Given the description of an element on the screen output the (x, y) to click on. 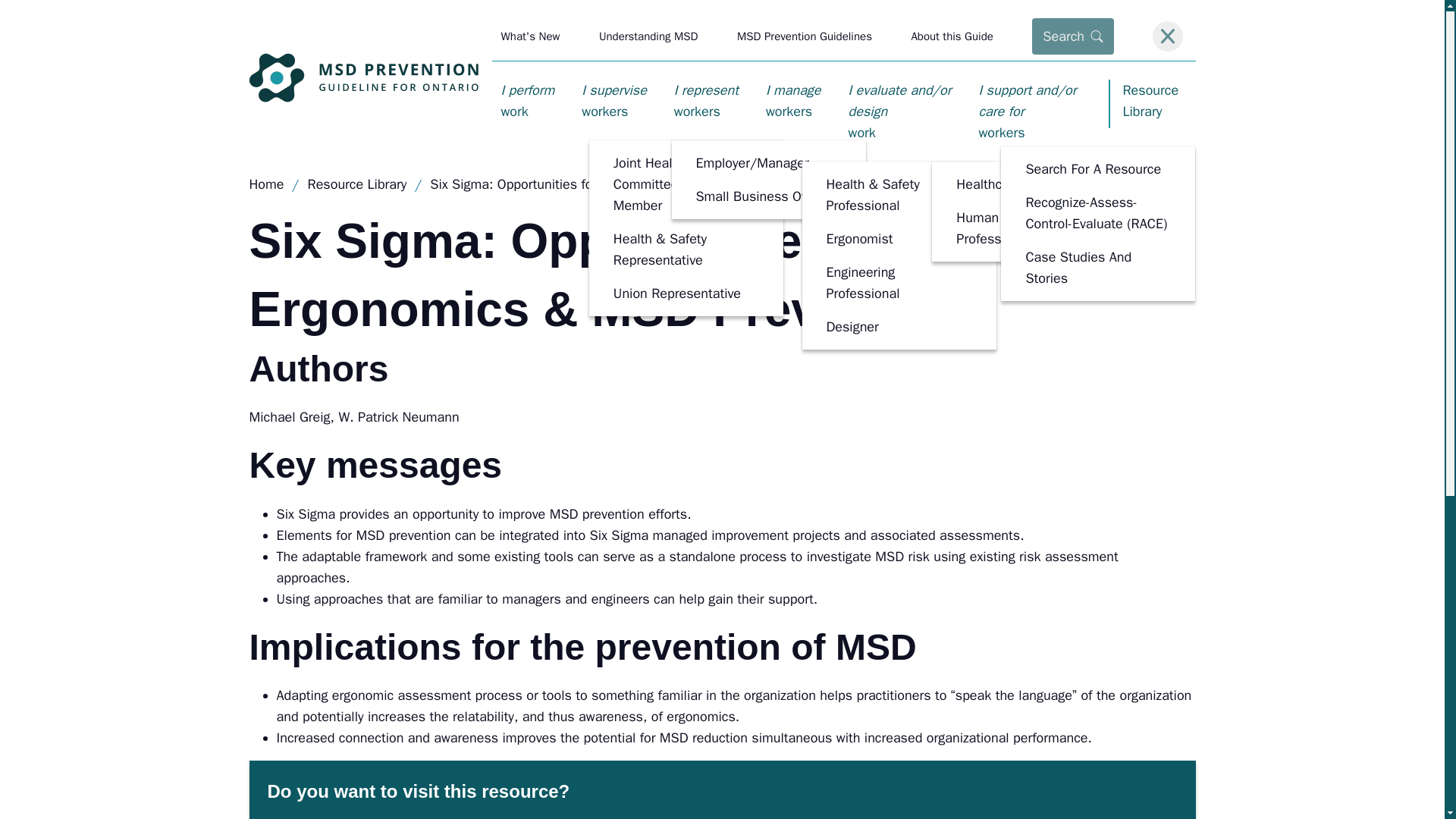
Resource Library (1151, 103)
Search (1072, 36)
Search For A Resource (1097, 168)
Small Business Owner (768, 196)
Engineering Professional (706, 100)
Designer (898, 282)
Healthcare Professional (613, 100)
